Given the description of an element on the screen output the (x, y) to click on. 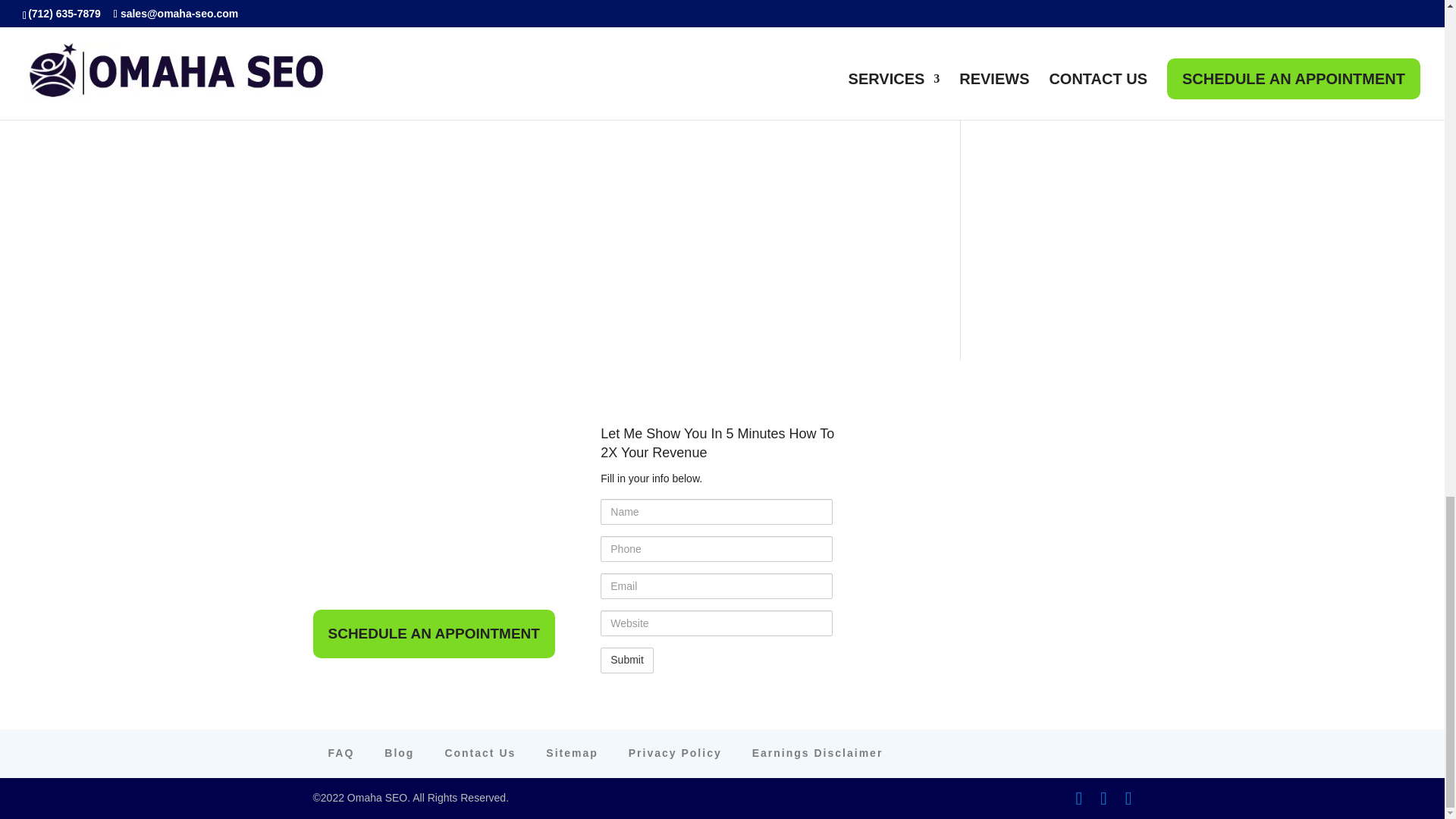
Submit (626, 660)
SCHEDULE AN APPOINTMENT (433, 633)
FAQ (340, 752)
Submit (626, 660)
Blog (398, 752)
